Given the description of an element on the screen output the (x, y) to click on. 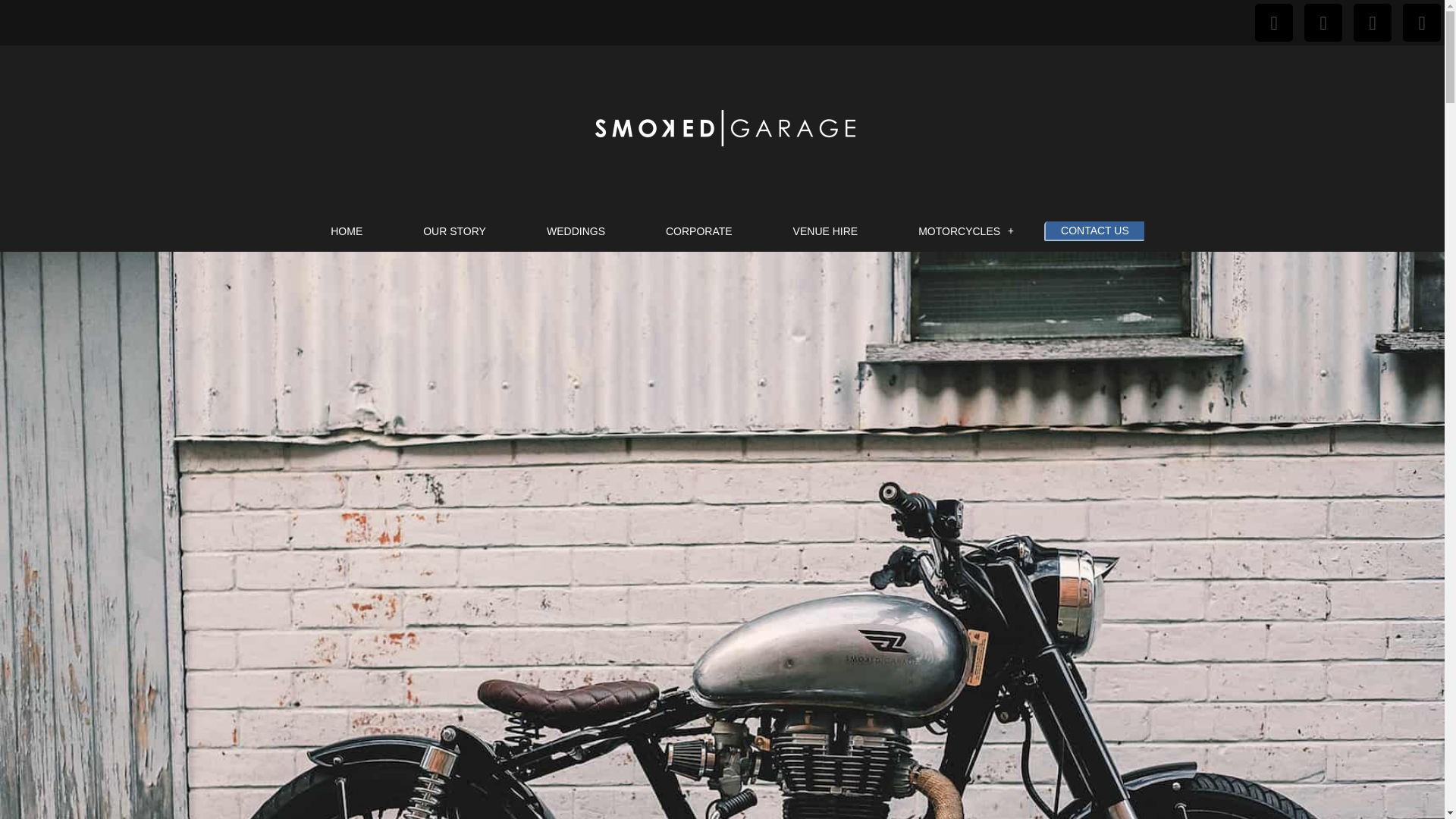
VENUE HIRE (825, 231)
OUR STORY (454, 231)
CORPORATE (698, 231)
logoputih (722, 127)
MOTORCYCLES (965, 231)
HOME (346, 231)
CONTACT US (1093, 230)
WEDDINGS (575, 231)
